Given the description of an element on the screen output the (x, y) to click on. 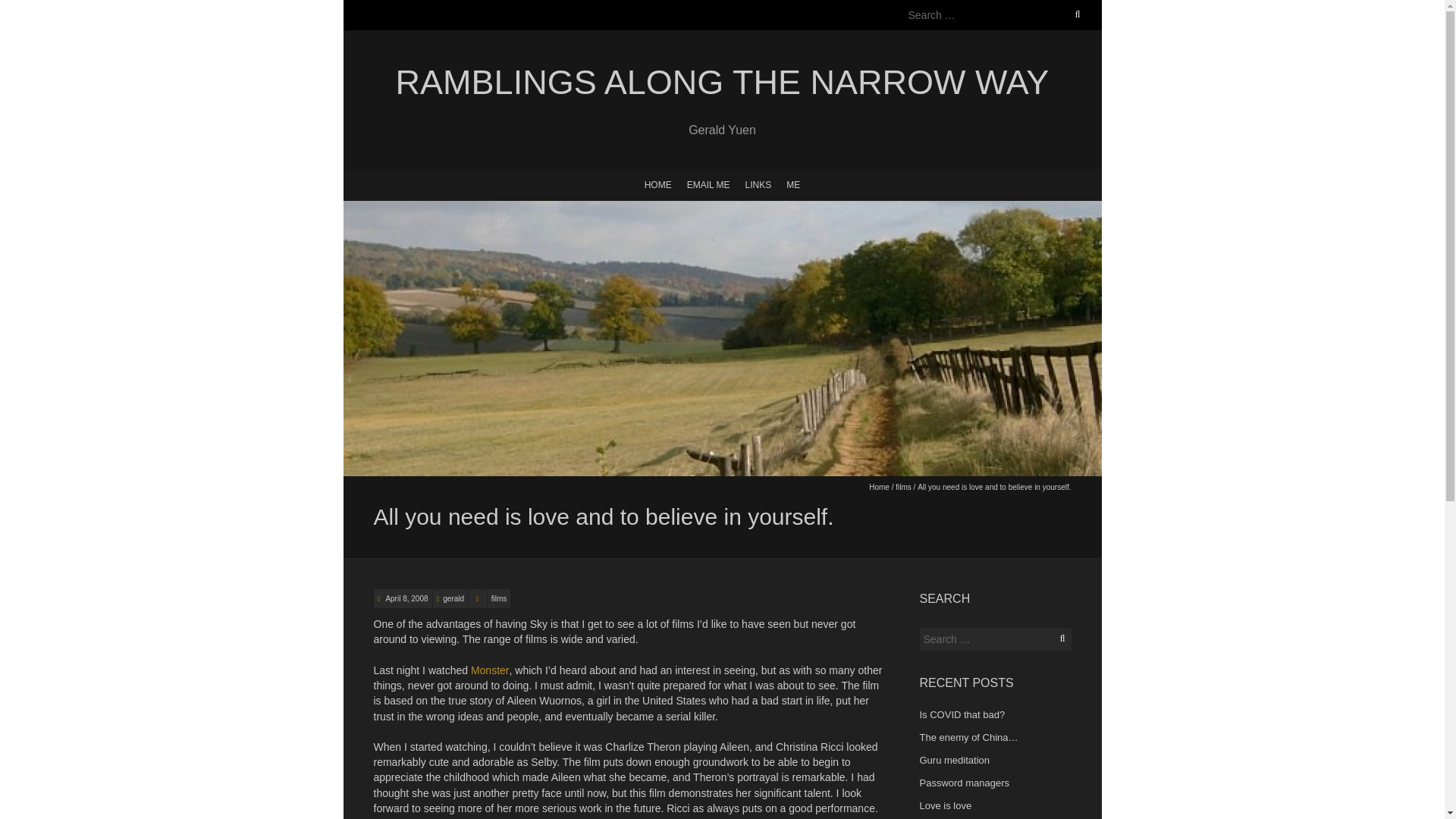
films (499, 598)
RAMBLINGS ALONG THE NARROW WAY (721, 82)
Guru meditation (954, 759)
LINKS (758, 184)
All you need is love and to believe in yourself. (406, 598)
EMAIL ME (708, 184)
Search (28, 9)
HOME (658, 184)
Monster (489, 670)
Love is love (944, 805)
